Given the description of an element on the screen output the (x, y) to click on. 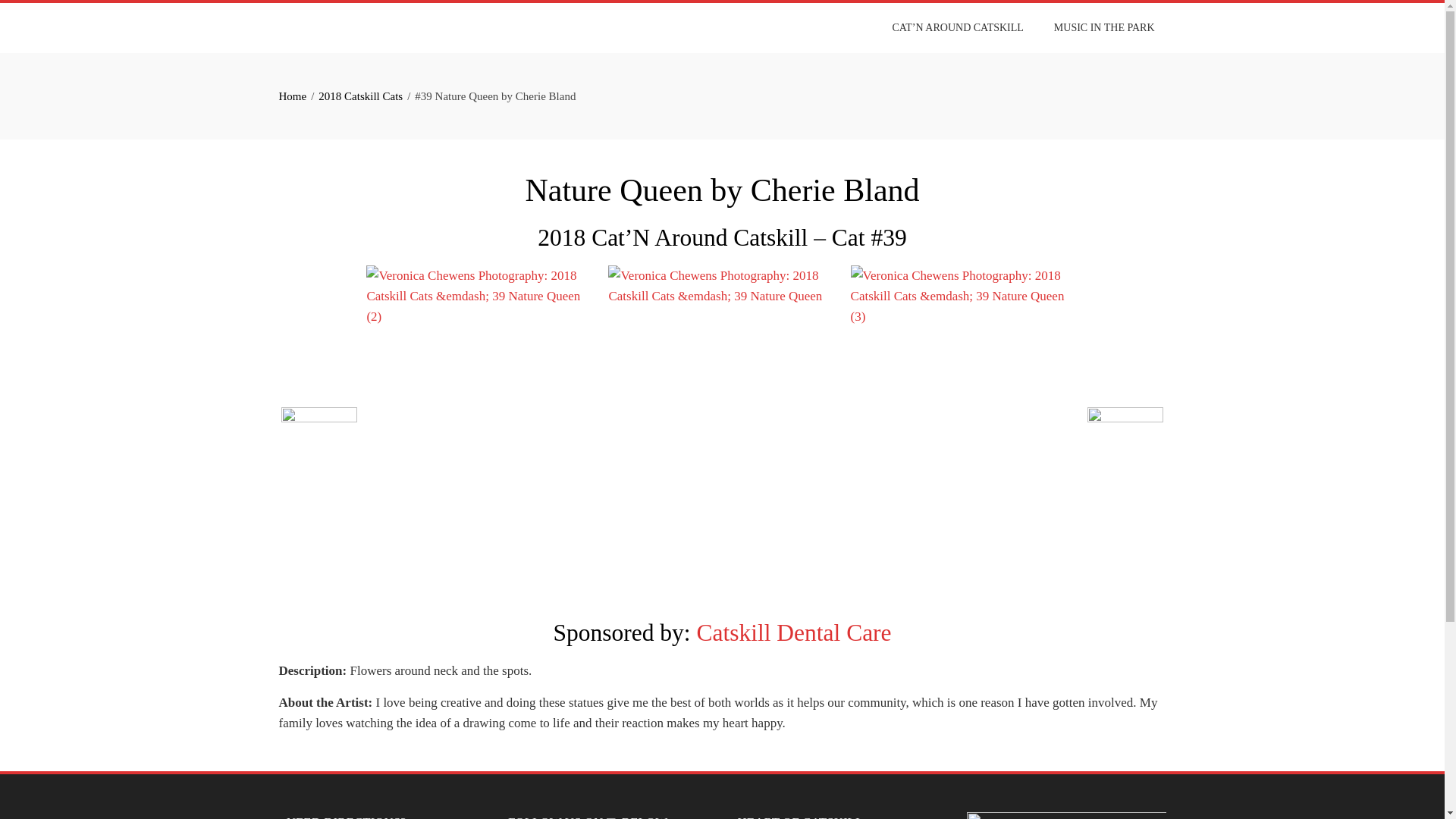
Home (293, 96)
2018 Catskill Cats (360, 96)
MUSIC IN THE PARK (1104, 27)
Catskill Dental Care (793, 632)
